Given the description of an element on the screen output the (x, y) to click on. 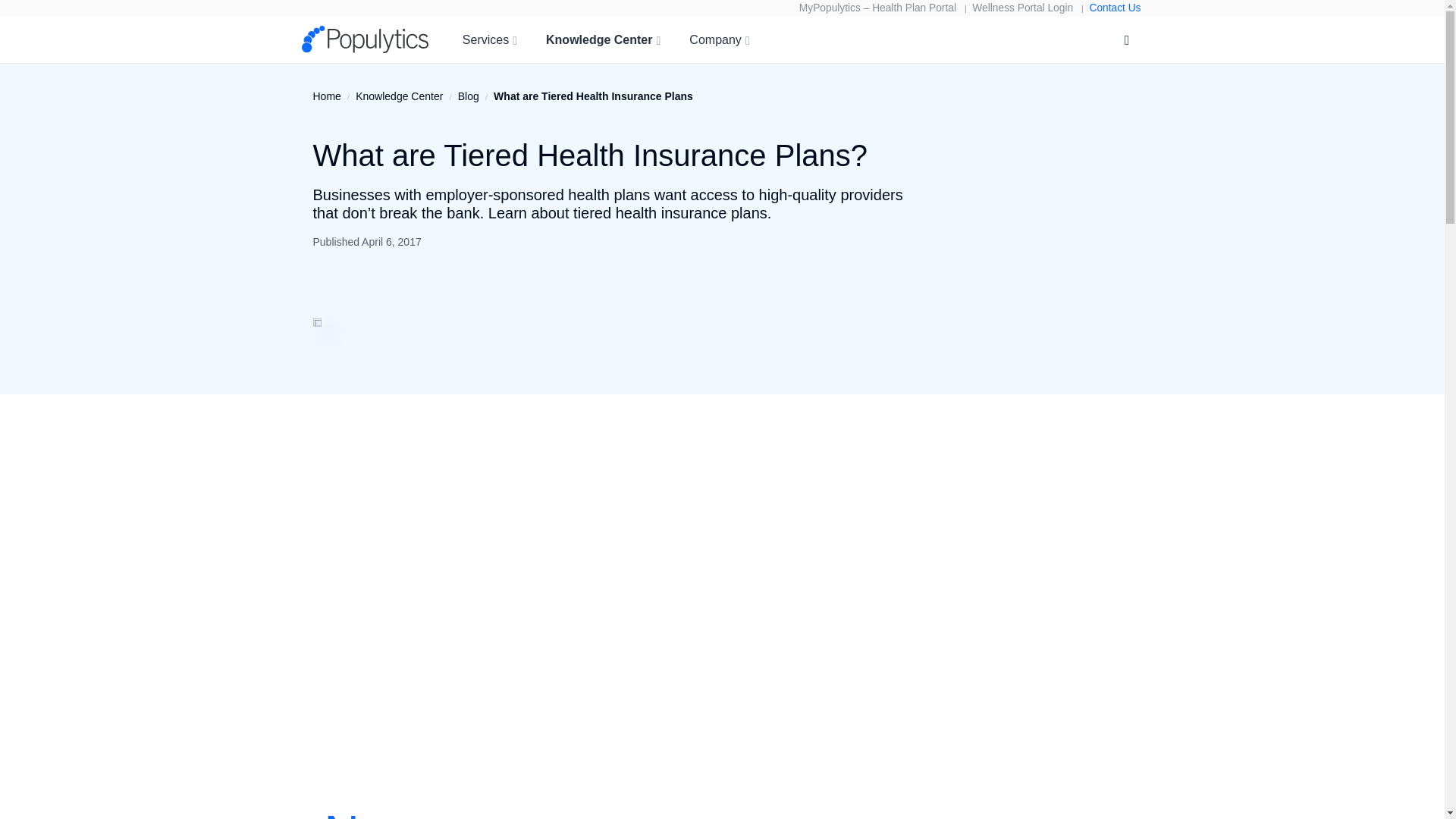
Knowledge Center (603, 39)
Contact Us (1114, 7)
Wellness Portal Login (1022, 7)
Services (489, 39)
Company (719, 39)
